Given the description of an element on the screen output the (x, y) to click on. 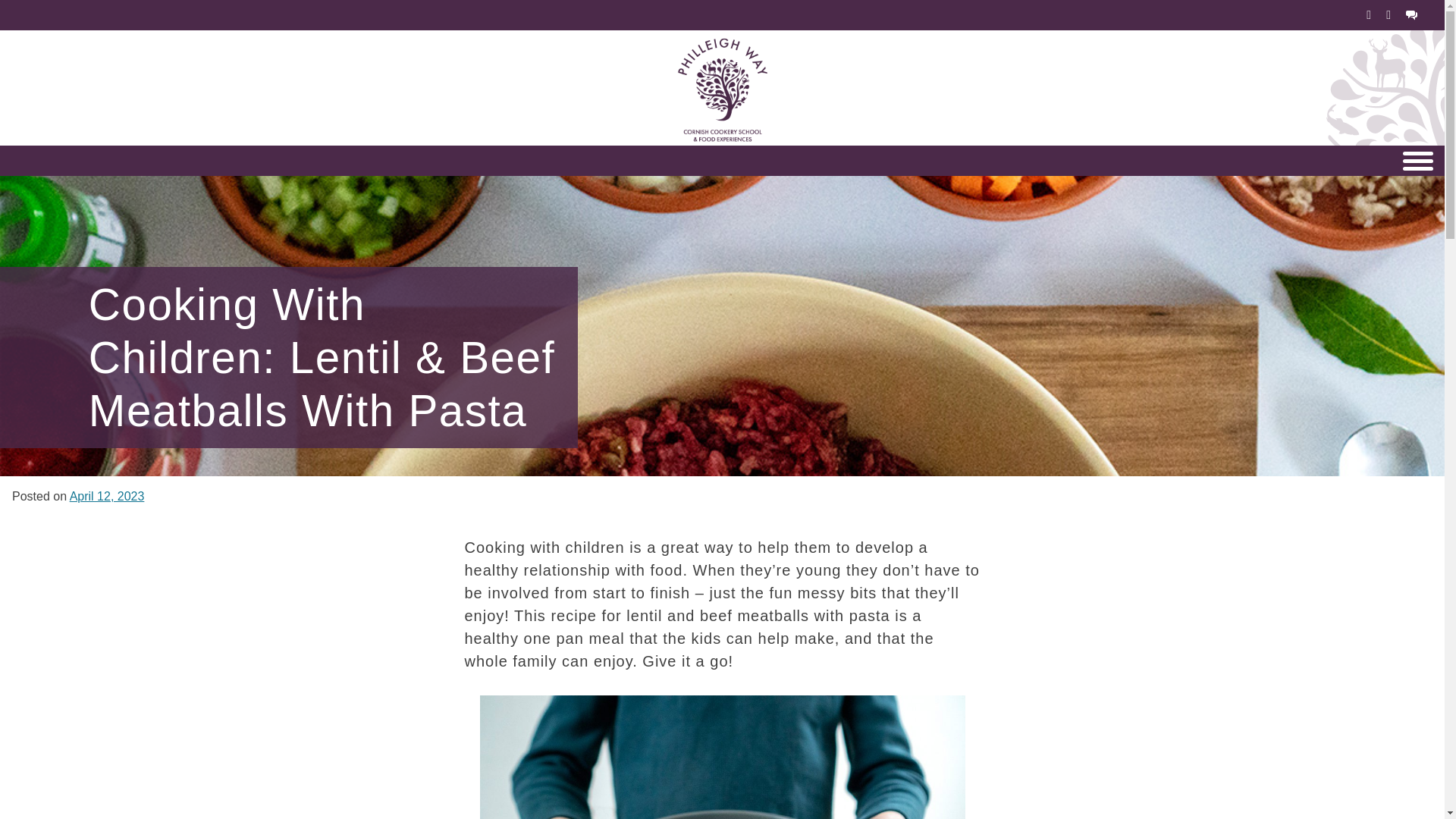
April 12, 2023 (106, 495)
